Given the description of an element on the screen output the (x, y) to click on. 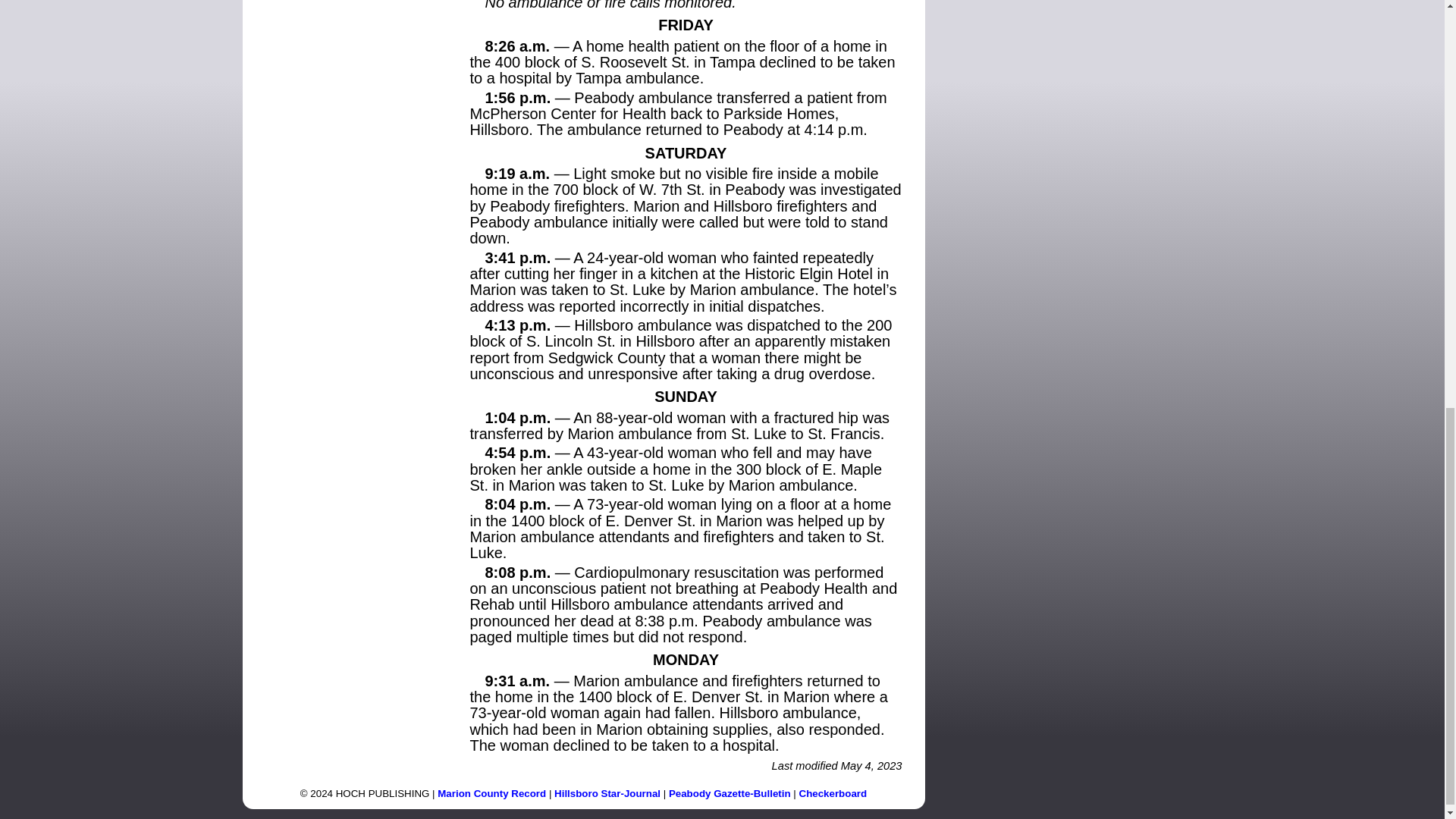
Peabody Gazette-Bulletin (729, 793)
Checkerboard (833, 793)
Marion County Record (492, 793)
Hillsboro Star-Journal (607, 793)
